Given the description of an element on the screen output the (x, y) to click on. 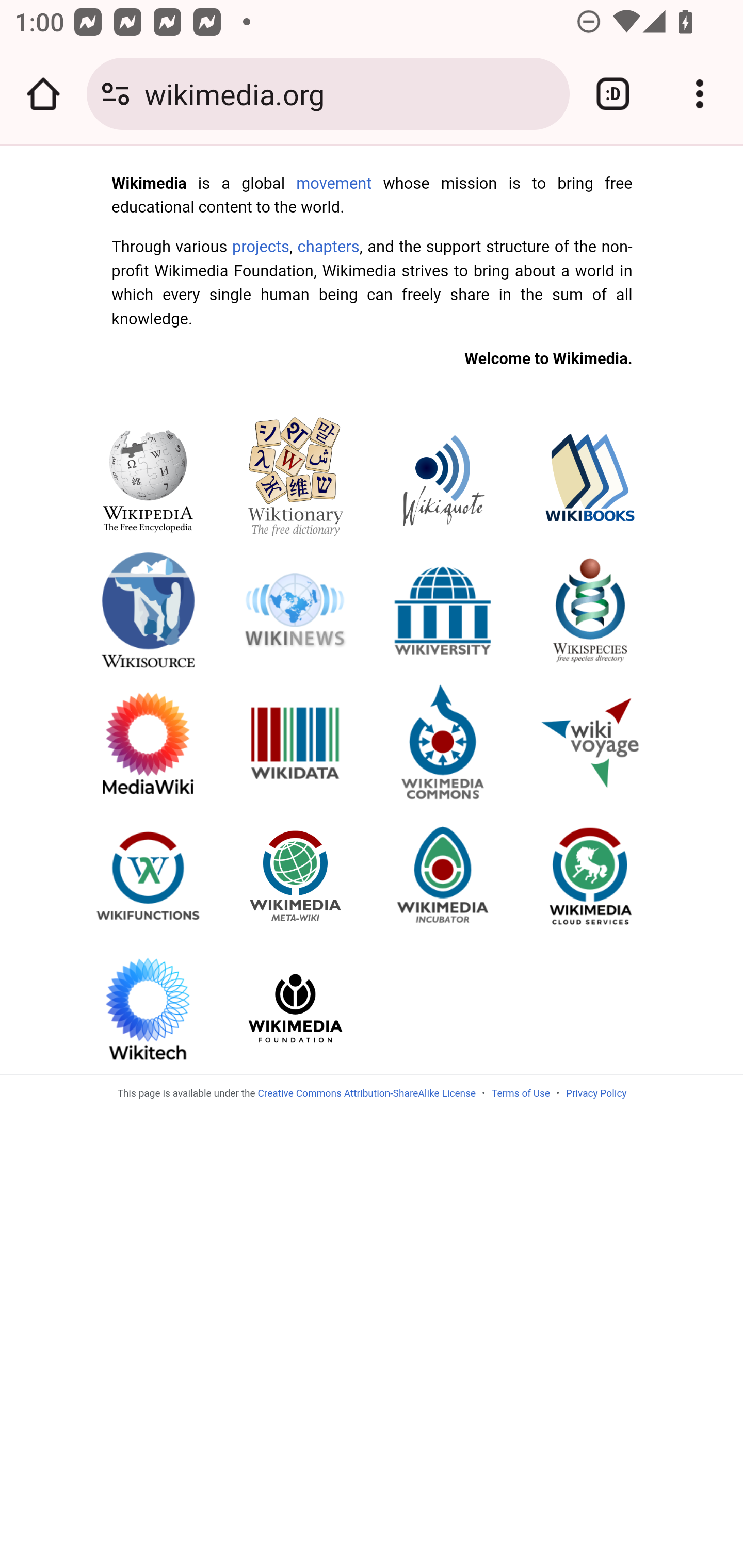
Open the home page (43, 93)
Connection is secure (115, 93)
Switch or close tabs (612, 93)
Customize and control Google Chrome (699, 93)
wikimedia.org (349, 92)
movement (333, 182)
projects (260, 245)
chapters (327, 245)
Wikipedia (147, 476)
Wiktionary (295, 476)
Wikiquote (442, 476)
Wikibooks (589, 476)
Wikisource (147, 608)
Wikinews (295, 608)
Wikiversity (442, 608)
Wikispecies (589, 608)
MediaWiki (147, 742)
Wikidata (295, 742)
Wikimedia Commons (442, 742)
Wikivoyage (589, 742)
Wikifunctions (147, 874)
Meta-Wiki (295, 874)
Wikimedia Incubator (442, 874)
Wikimedia Cloud Services logo (589, 874)
Wikitech logo (147, 1007)
Wikimedia Foundation (295, 1007)
Creative Commons Attribution-ShareAlike License (366, 1092)
Terms of Use (520, 1092)
Privacy Policy (596, 1092)
